Given the description of an element on the screen output the (x, y) to click on. 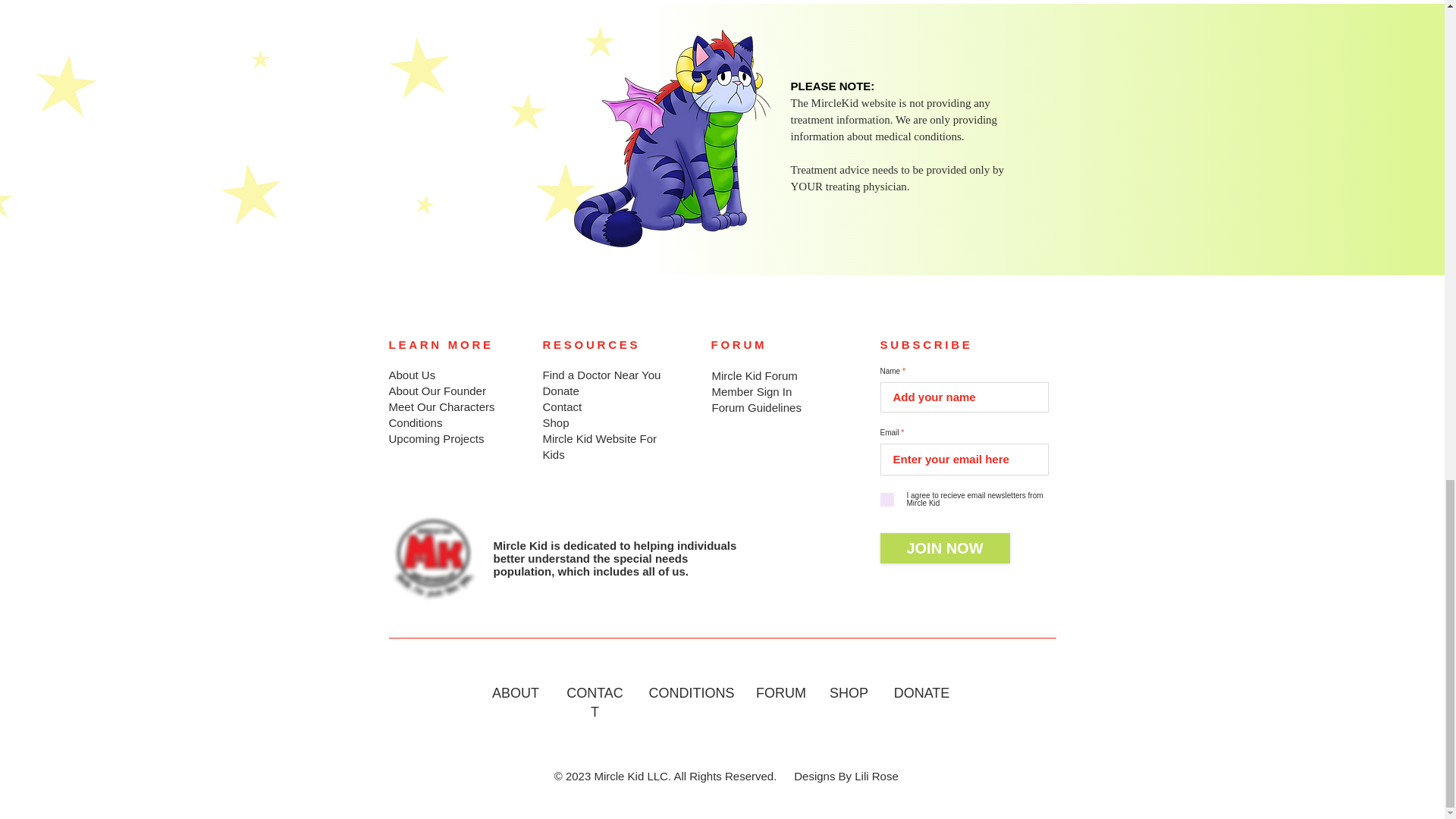
About Us (411, 374)
About Our Founder (436, 390)
Mircle Kid Website For Kids (600, 446)
Conditions (415, 422)
Contact (562, 406)
Find a Doctor Near You (602, 374)
Meet Our Characters (441, 406)
Shop (556, 422)
Donate (561, 390)
Upcoming Projects (435, 438)
